Given the description of an element on the screen output the (x, y) to click on. 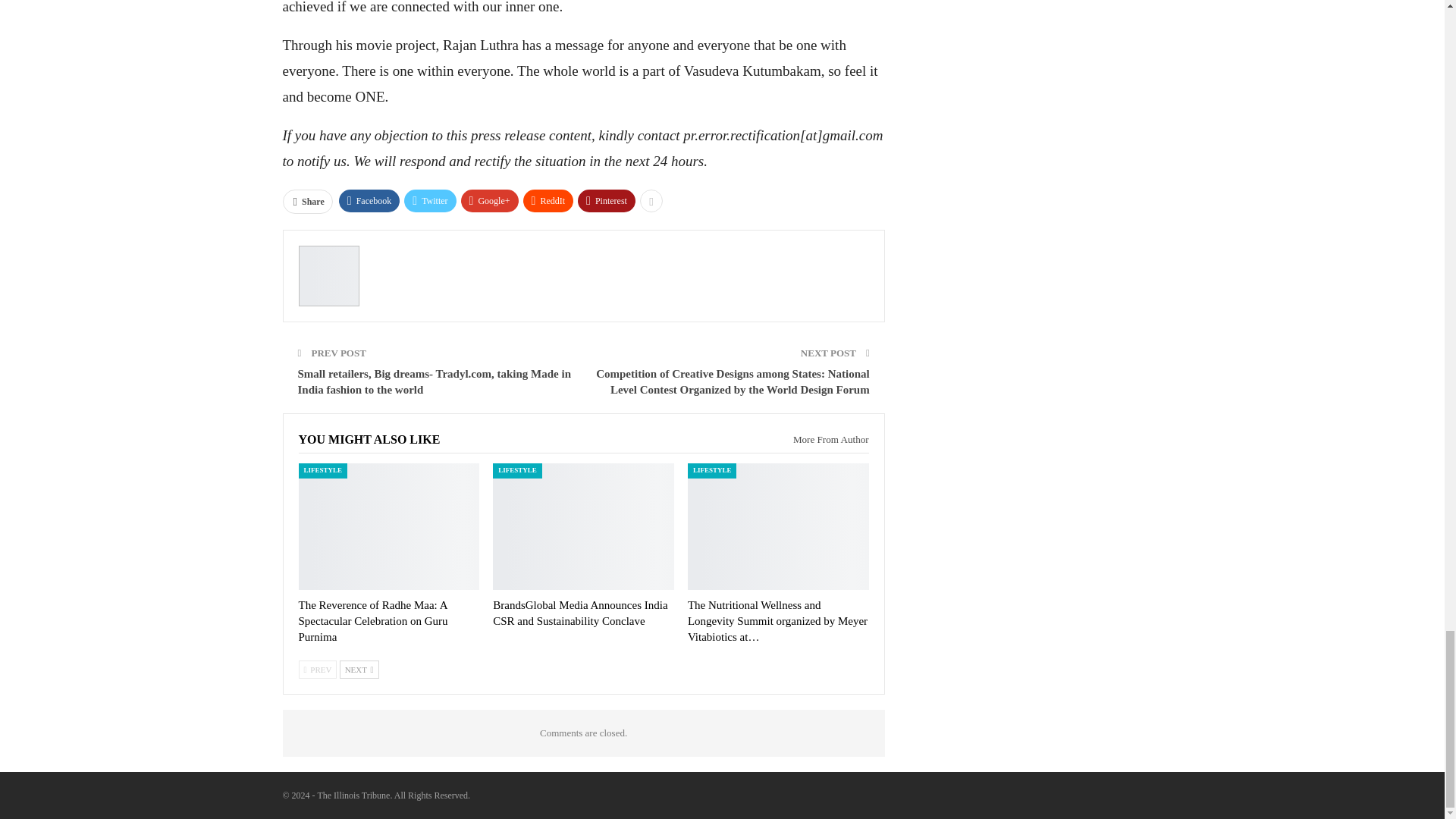
Previous (317, 669)
More From Author (824, 439)
Pinterest (606, 200)
Twitter (429, 200)
LIFESTYLE (322, 470)
Facebook (369, 200)
ReddIt (547, 200)
YOU MIGHT ALSO LIKE (369, 439)
Next (358, 669)
